Given the description of an element on the screen output the (x, y) to click on. 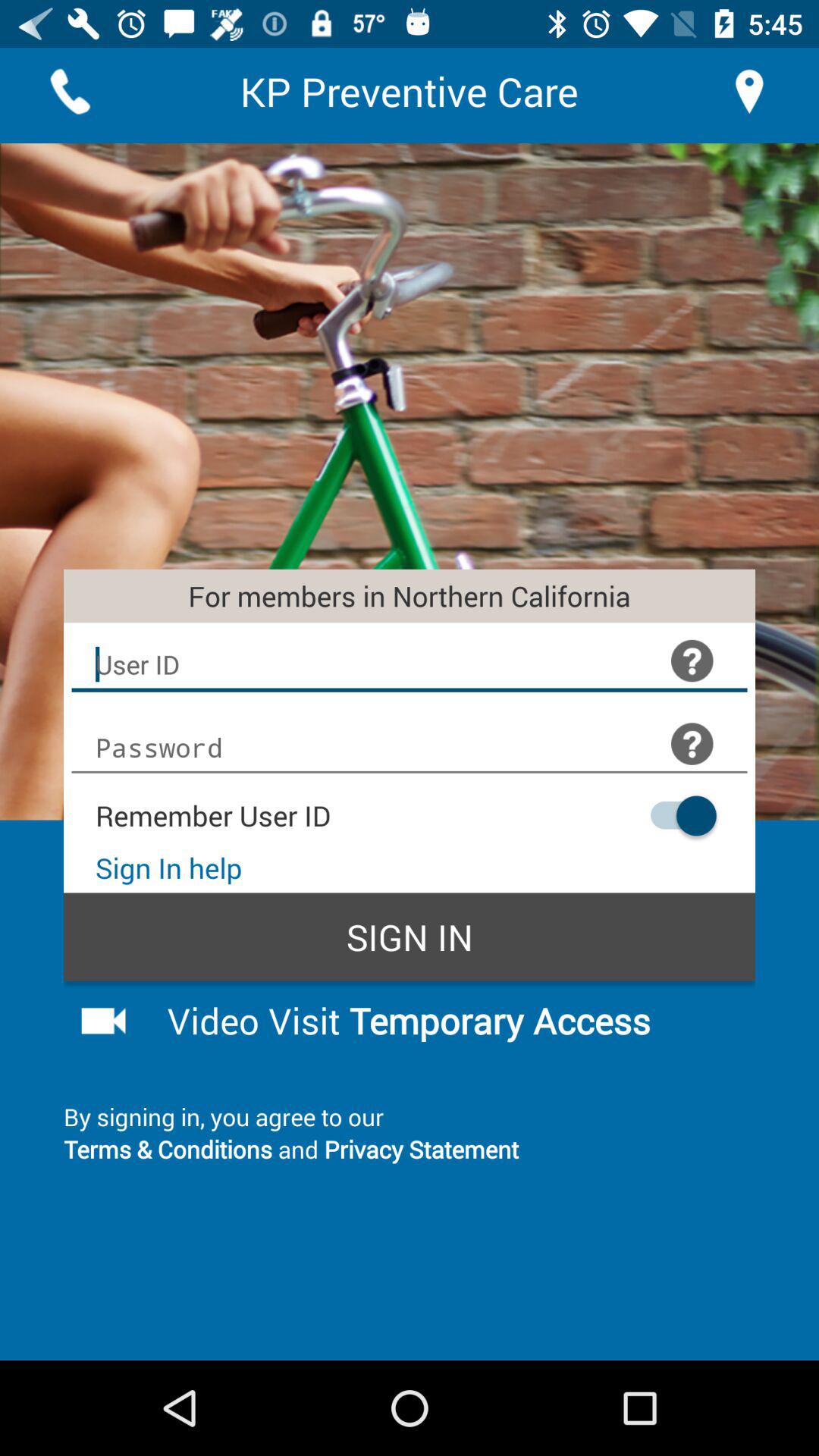
turn on video visit temporary app (449, 1020)
